Given the description of an element on the screen output the (x, y) to click on. 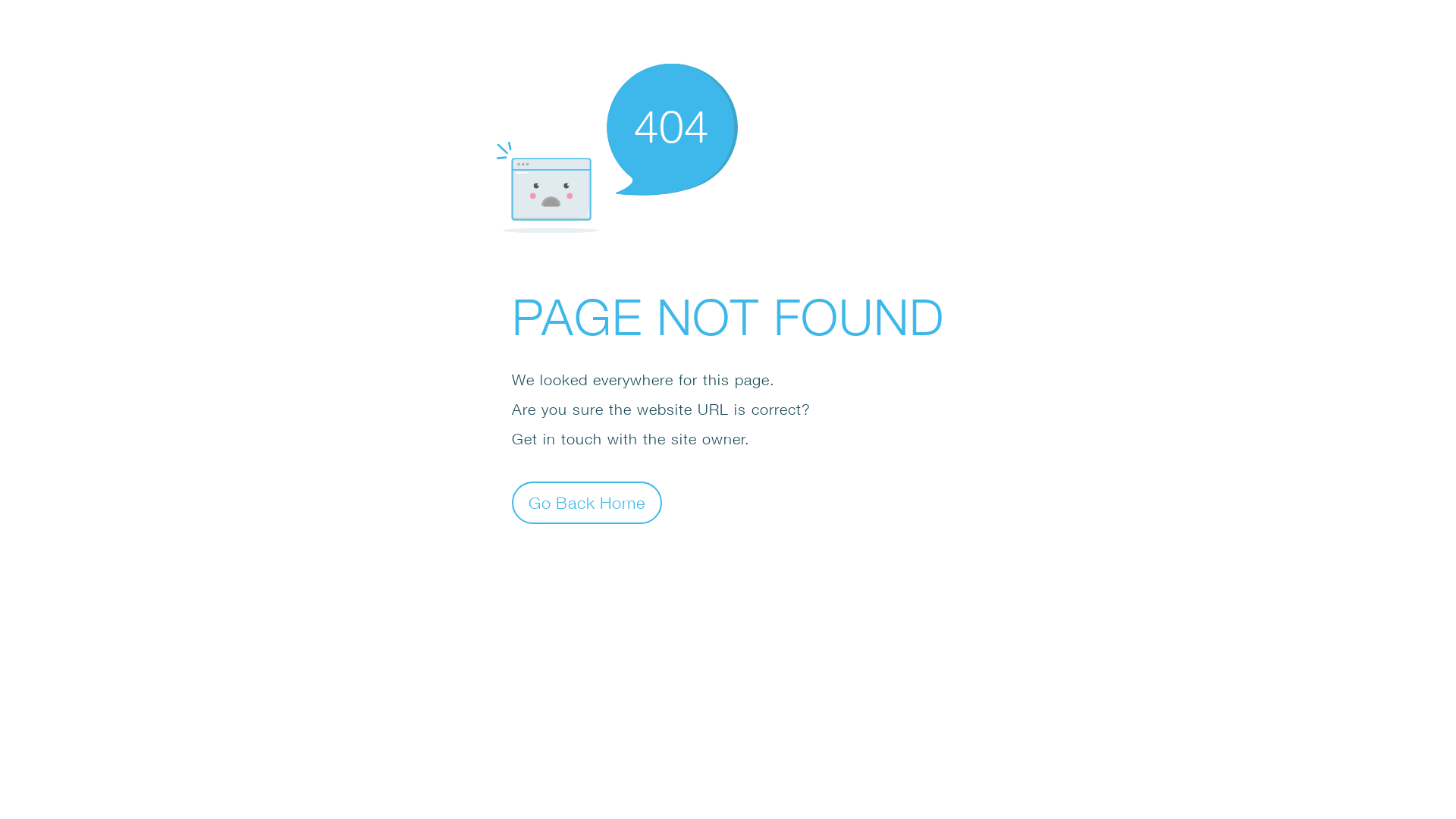
Go Back Home Element type: text (586, 502)
